Given the description of an element on the screen output the (x, y) to click on. 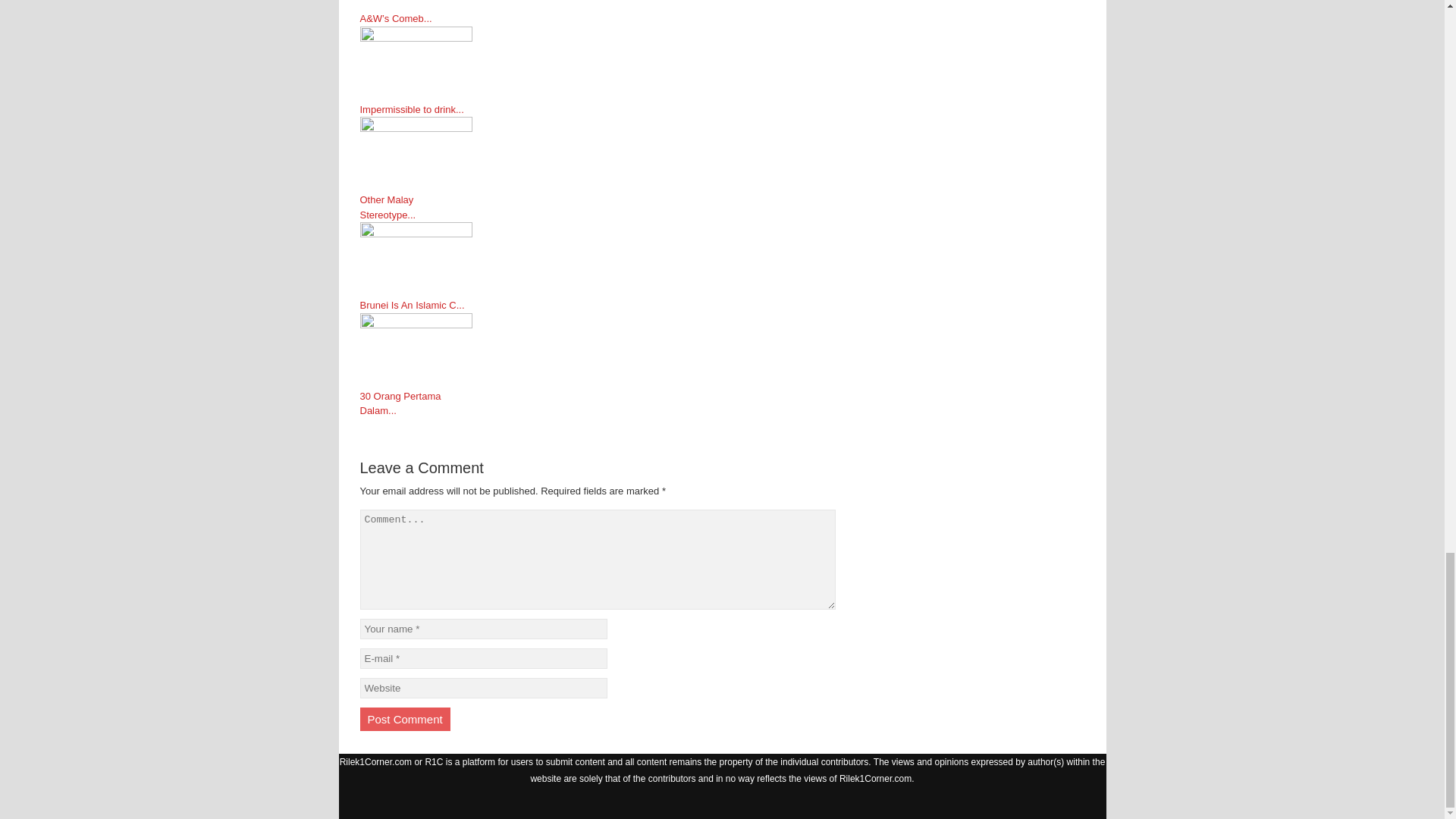
Post Comment (404, 719)
30 Orang Pertama Dalam ISLAM (597, 350)
Impermissible to drink... (415, 109)
